Given the description of an element on the screen output the (x, y) to click on. 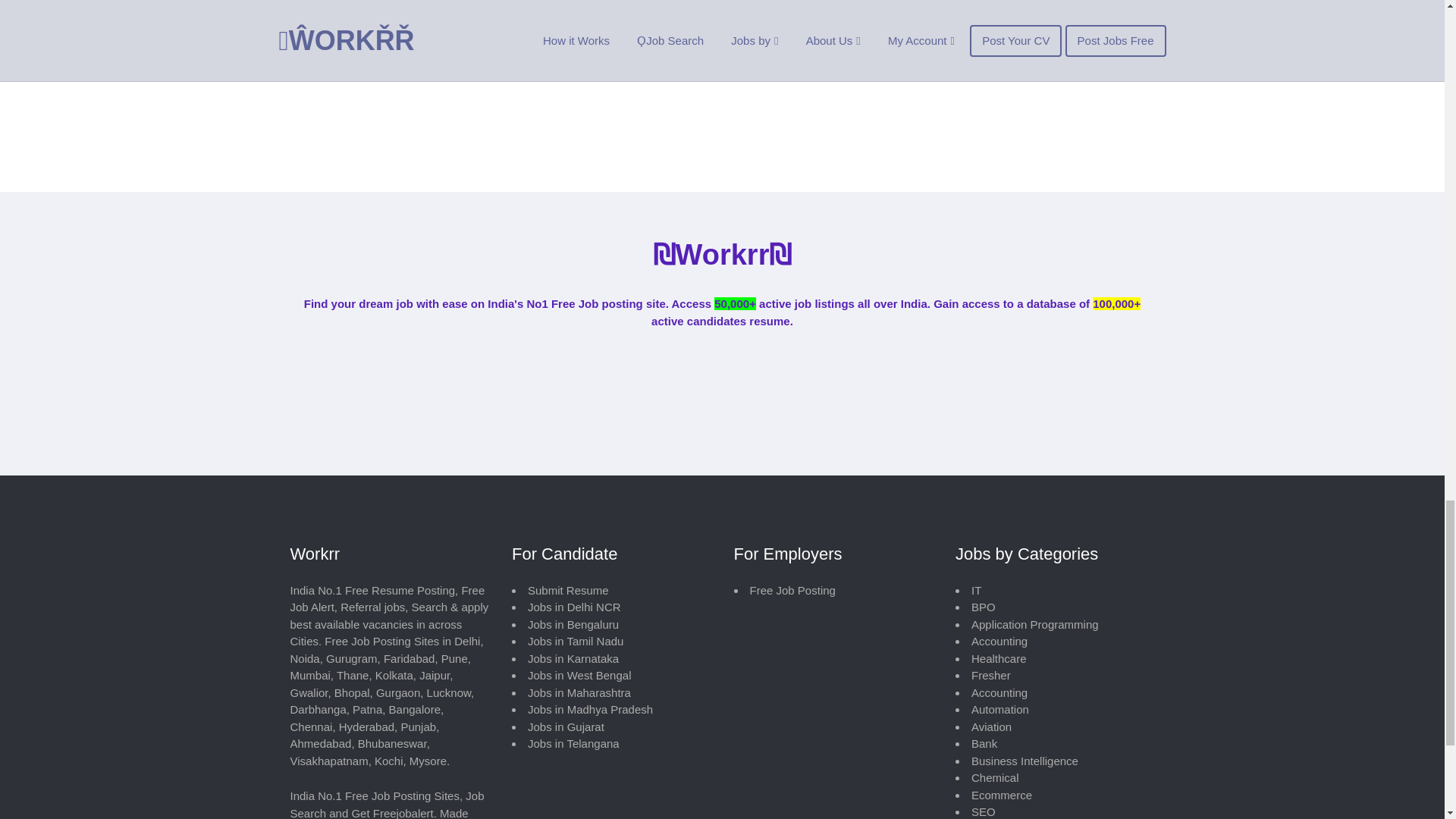
View at the Original Source (525, 1)
Career counseling (502, 31)
Submit Resume (567, 590)
